Given the description of an element on the screen output the (x, y) to click on. 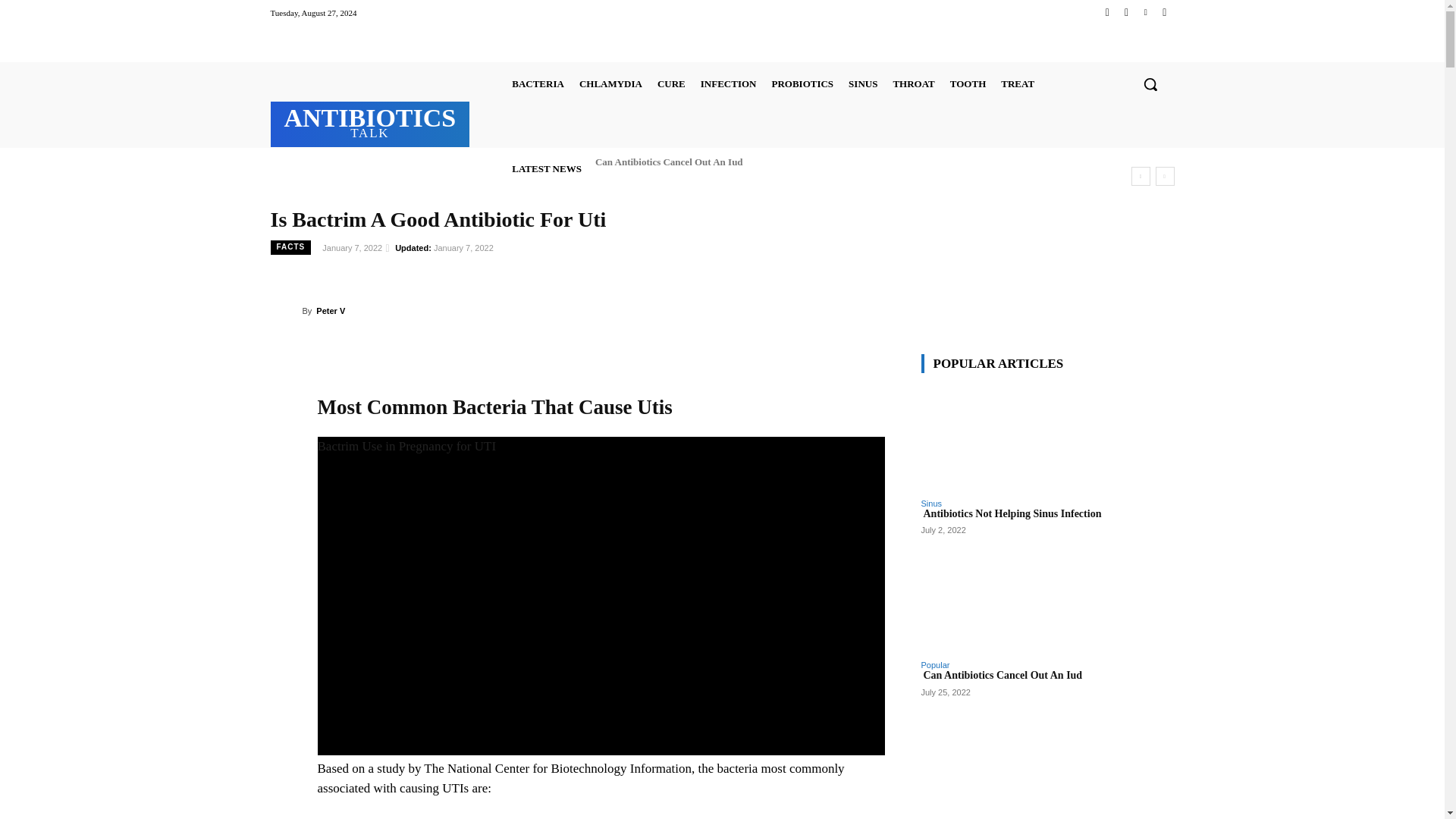
Facebook (370, 122)
BACTERIA (1106, 12)
CHLAMYDIA (537, 83)
